Given the description of an element on the screen output the (x, y) to click on. 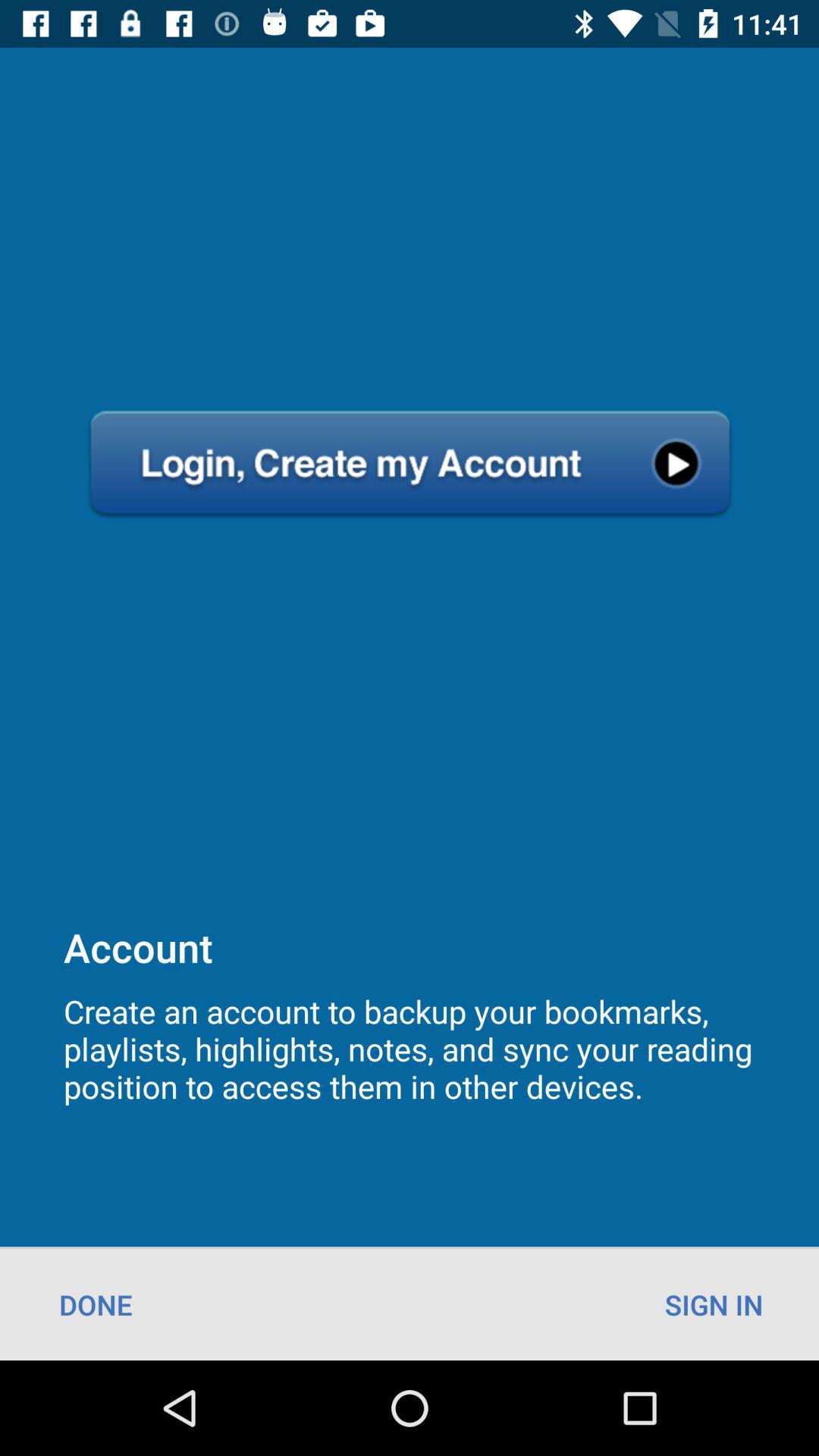
swipe to sign in (713, 1304)
